Given the description of an element on the screen output the (x, y) to click on. 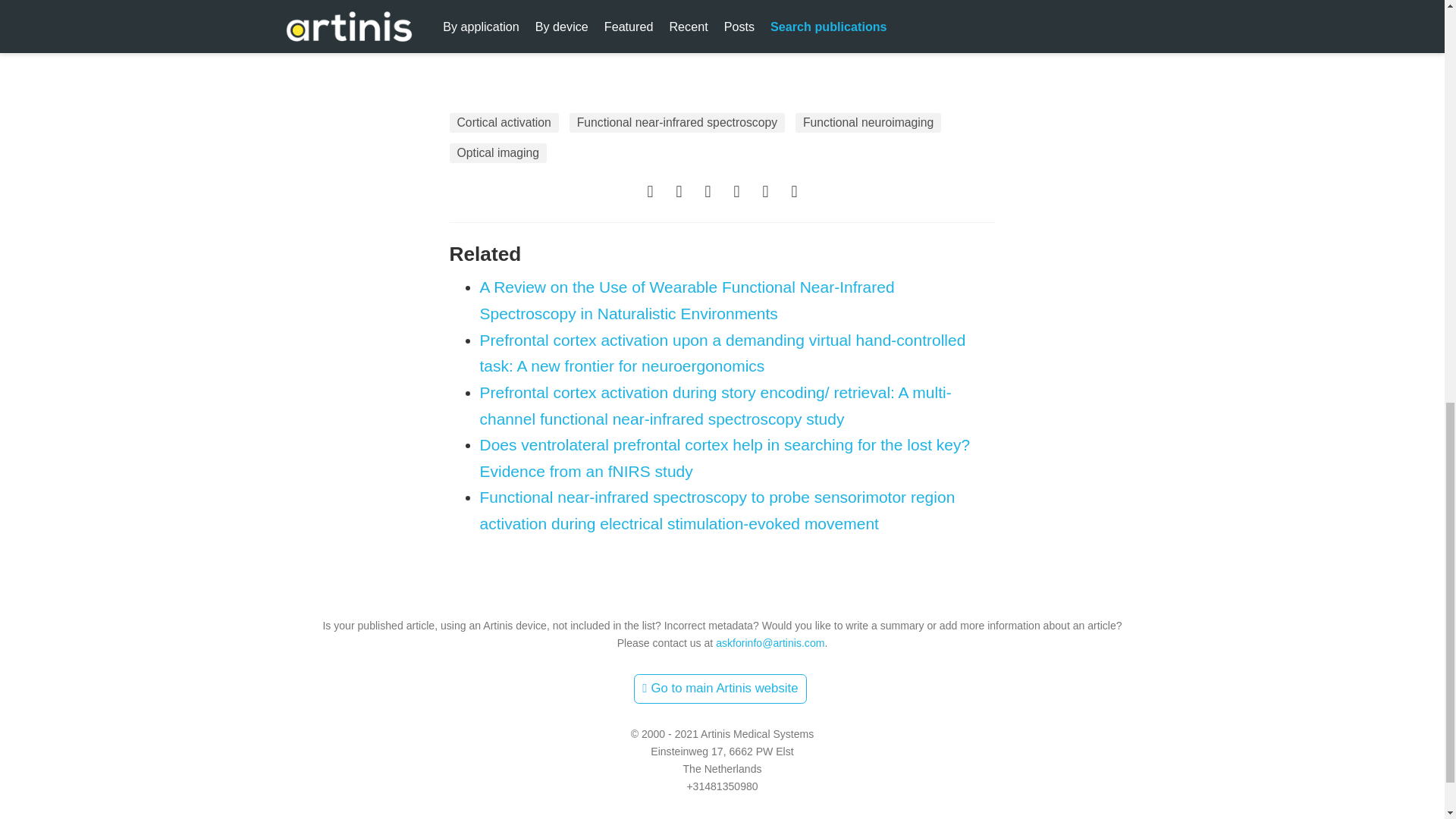
Functional neuroimaging (867, 122)
Go to main Artinis website (719, 689)
Functional near-infrared spectroscopy (676, 122)
Optical imaging (497, 152)
Cortical activation (502, 122)
